Given the description of an element on the screen output the (x, y) to click on. 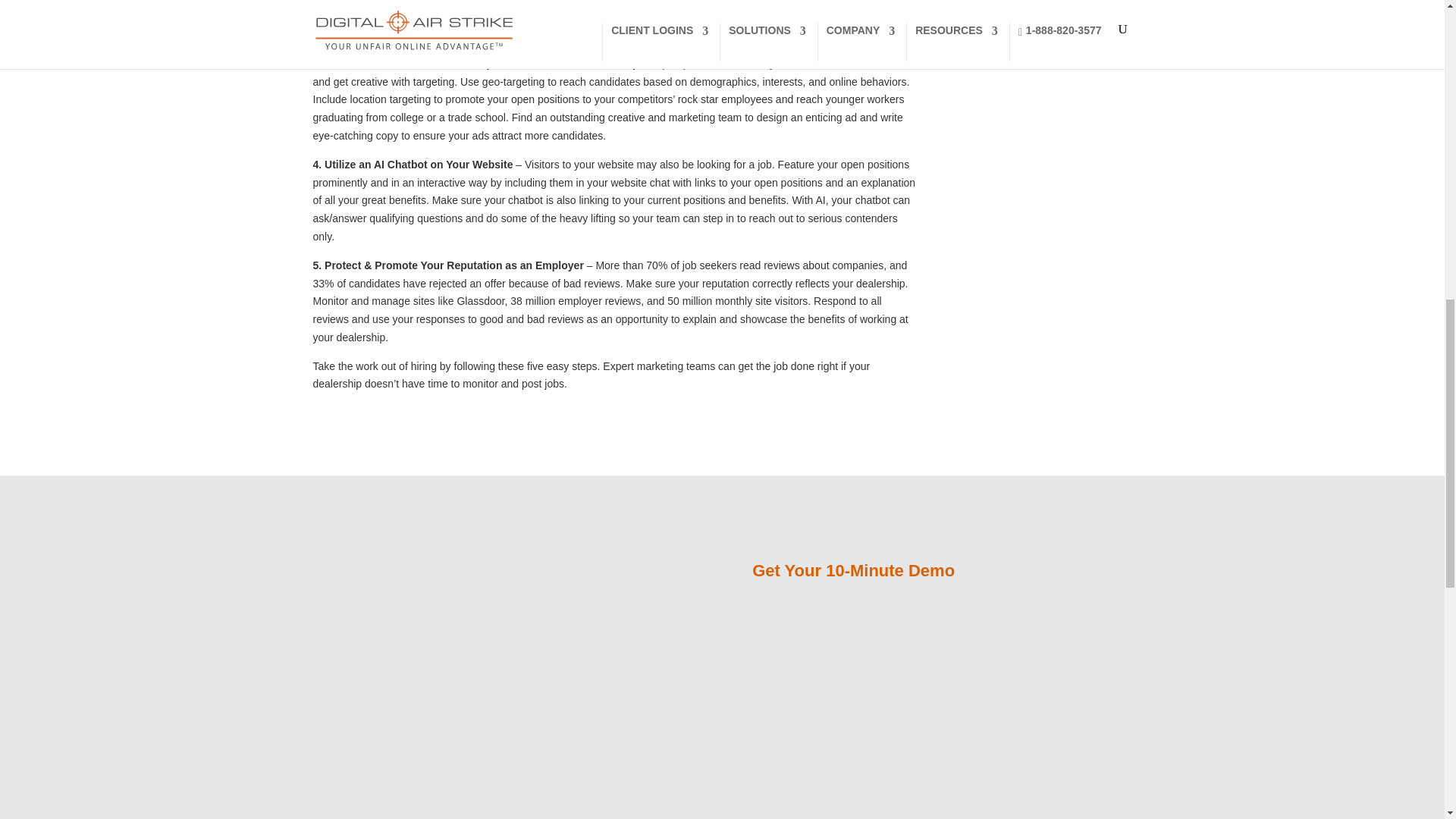
cta-2 (433, 690)
